Given the description of an element on the screen output the (x, y) to click on. 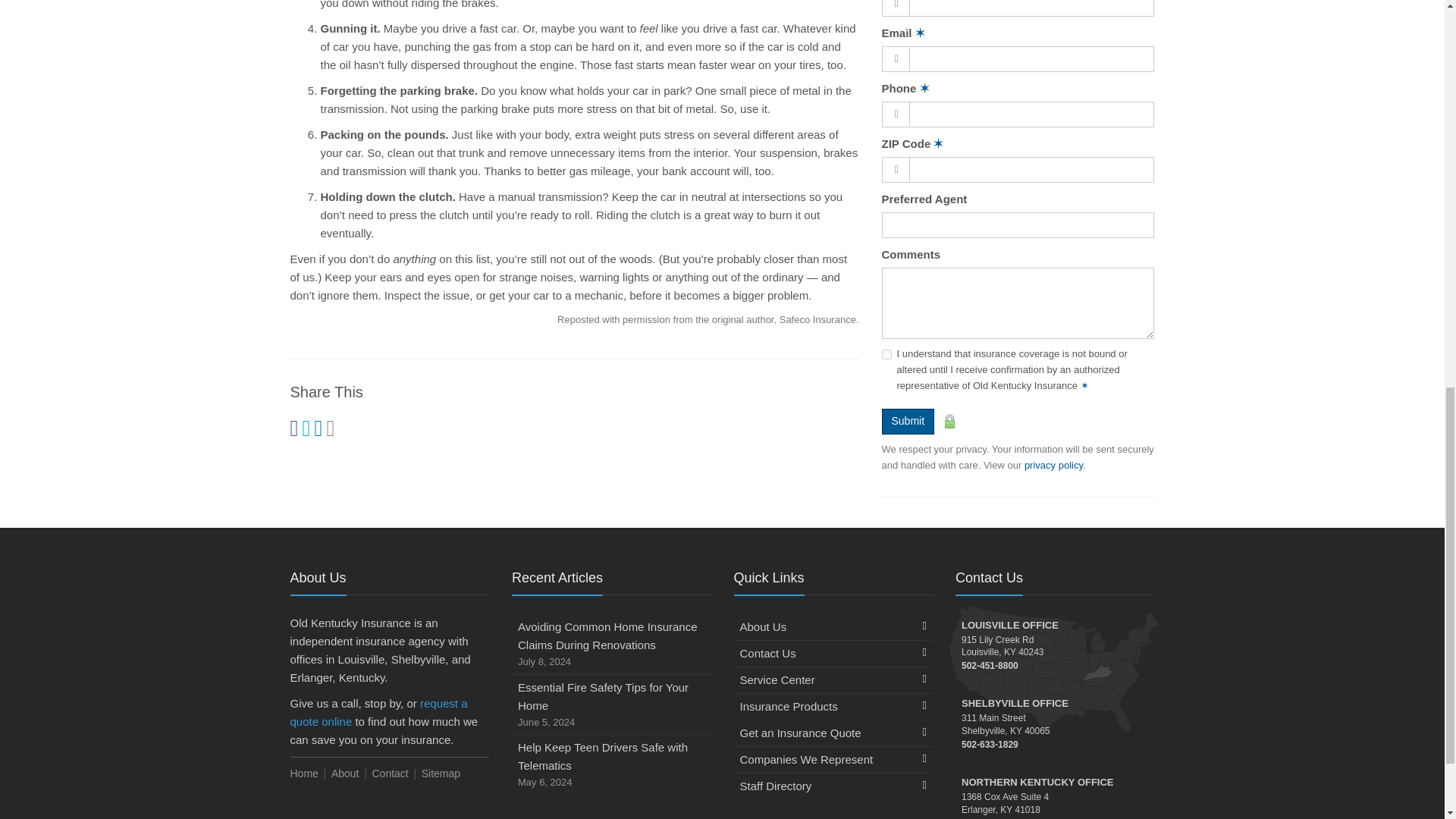
7 Driving Habits That Are Bad for Your Car  (708, 319)
Required (938, 143)
Required (925, 88)
Required (919, 32)
1 (885, 354)
Opens in a new window (1054, 464)
Required (1084, 385)
